Given the description of an element on the screen output the (x, y) to click on. 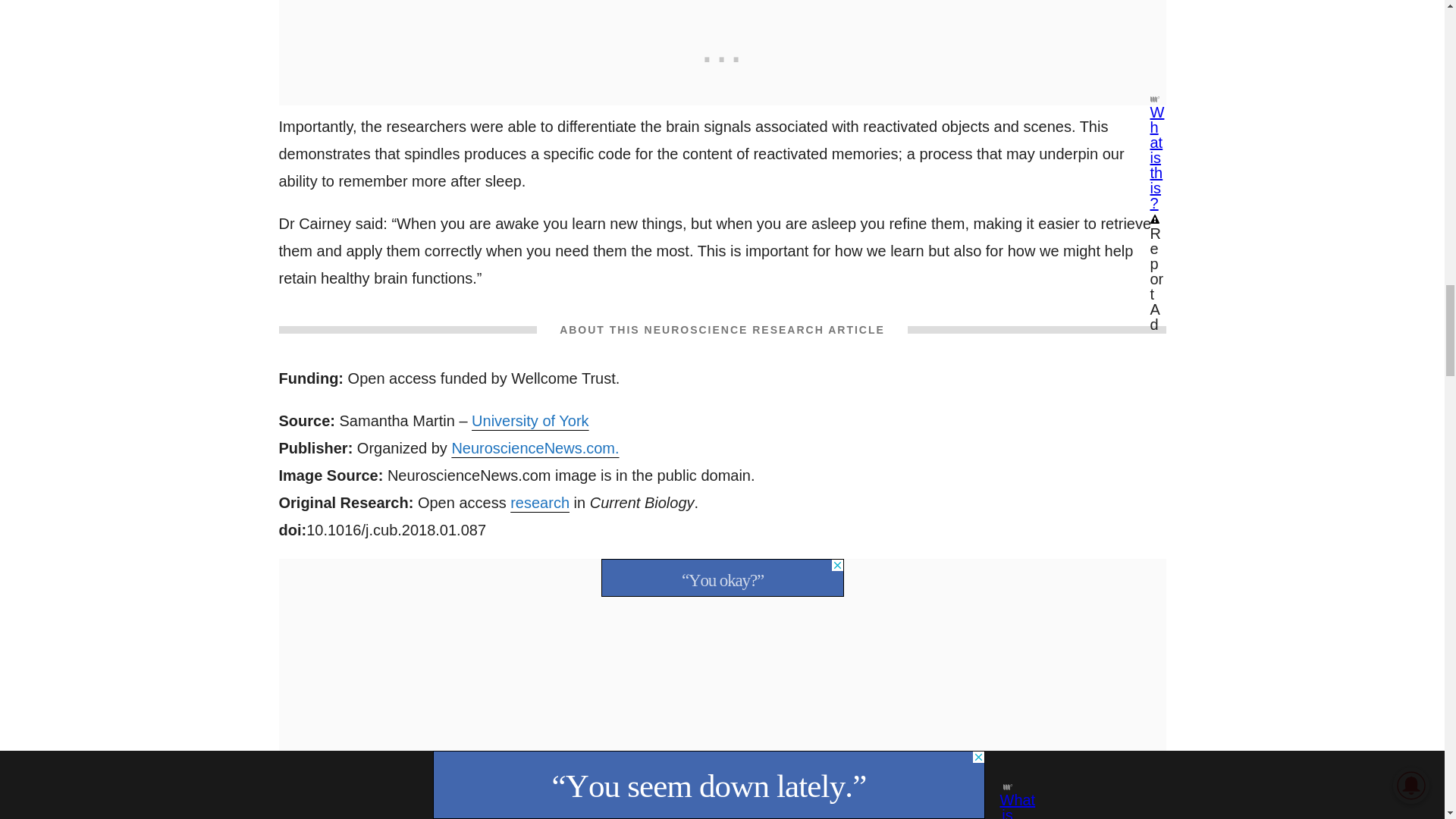
University of York (530, 420)
research (540, 502)
3rd party ad content (721, 577)
NeuroscienceNews.com. (534, 447)
